Given the description of an element on the screen output the (x, y) to click on. 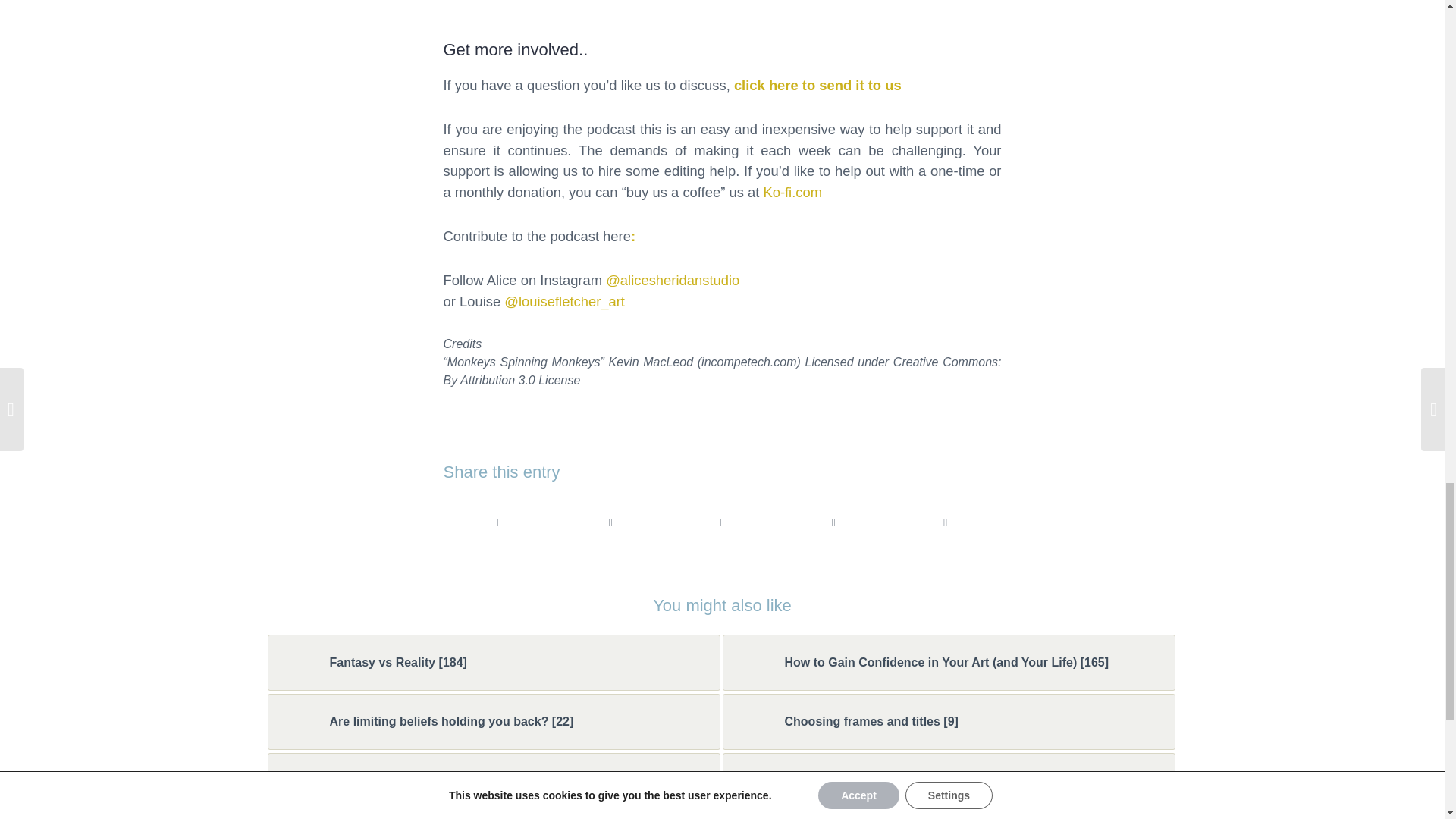
Ko-fi.com (792, 191)
Ep 165 Art Juice (750, 662)
click here to send it to us (817, 84)
Ep 184 Fanatsy Reality (295, 662)
